Given the description of an element on the screen output the (x, y) to click on. 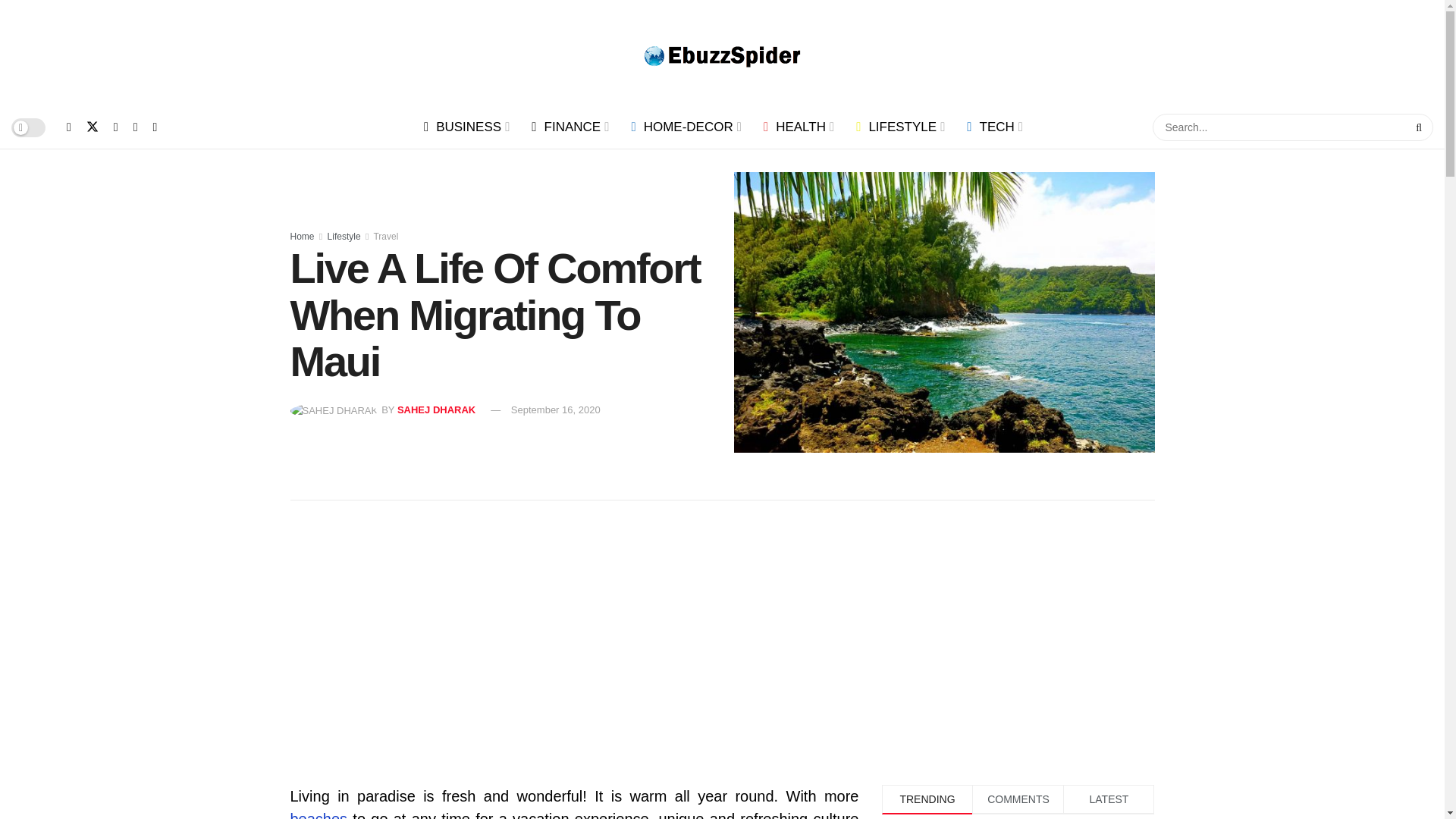
BUSINESS (465, 127)
